Given the description of an element on the screen output the (x, y) to click on. 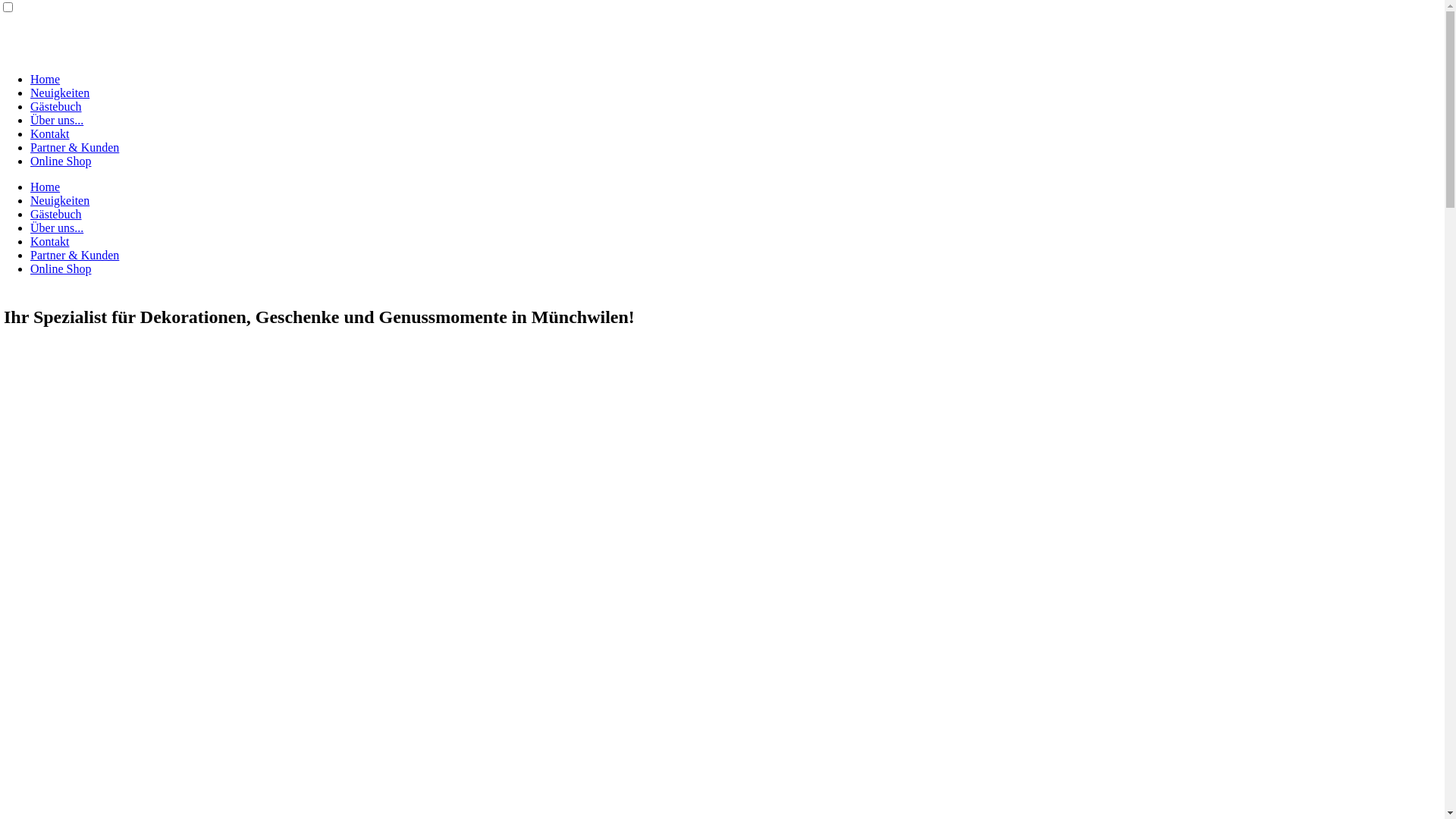
Home Element type: text (44, 186)
Online Shop Element type: text (60, 160)
Partner & Kunden Element type: text (74, 147)
Kontakt Element type: text (49, 133)
Online Shop Element type: text (60, 268)
Neuigkeiten Element type: text (59, 200)
Kontakt Element type: text (49, 241)
Partner & Kunden Element type: text (74, 254)
Home Element type: text (44, 78)
Neuigkeiten Element type: text (59, 92)
